Given the description of an element on the screen output the (x, y) to click on. 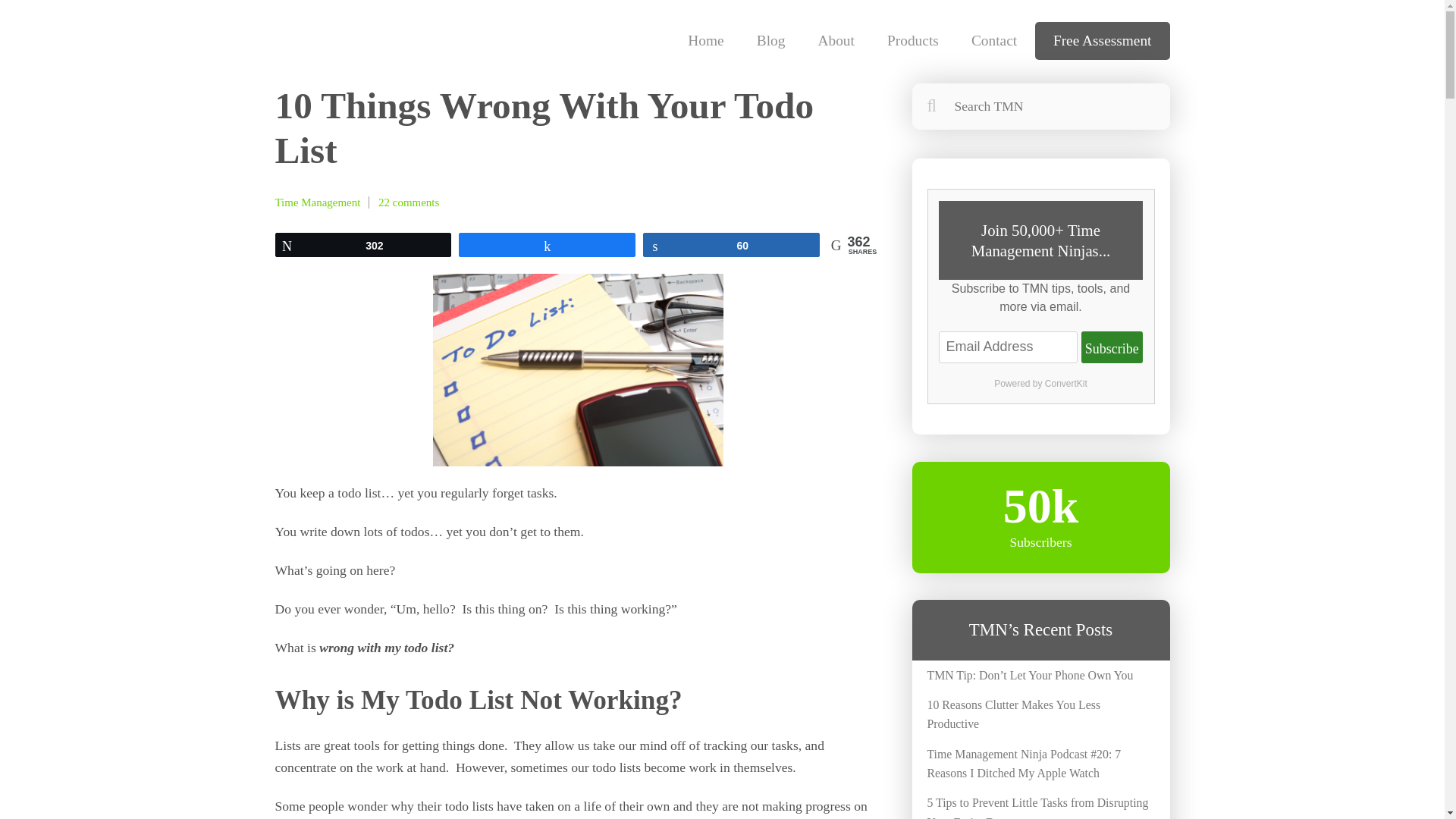
Contact (994, 41)
Search for: (1040, 106)
About (836, 41)
Free Assessment (1102, 40)
22 comments (408, 202)
todo list wrong (577, 369)
60 (730, 244)
302 (363, 244)
Time Management (317, 202)
Home (705, 41)
